Given the description of an element on the screen output the (x, y) to click on. 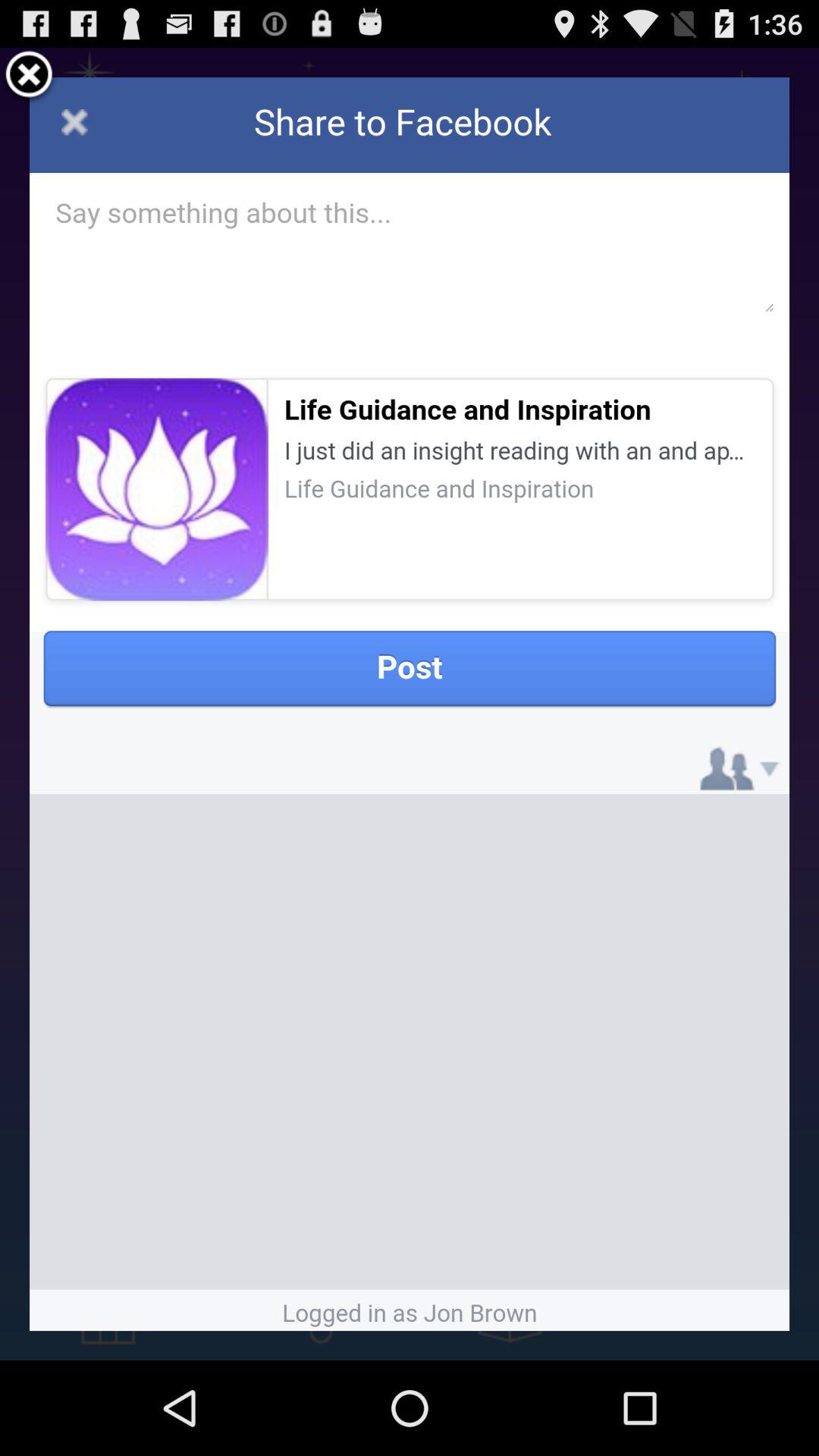
close (29, 76)
